Given the description of an element on the screen output the (x, y) to click on. 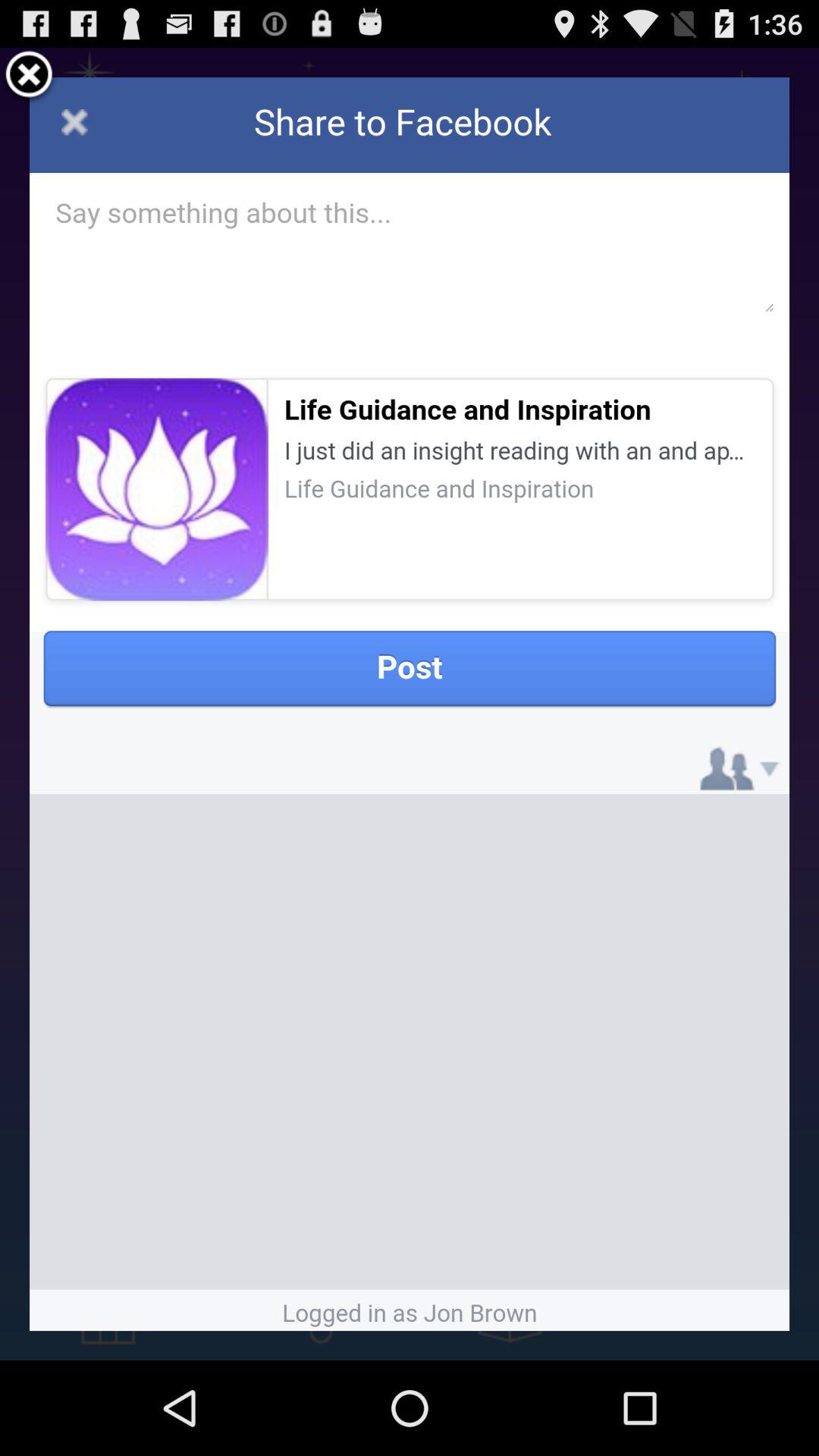
close (29, 76)
